Given the description of an element on the screen output the (x, y) to click on. 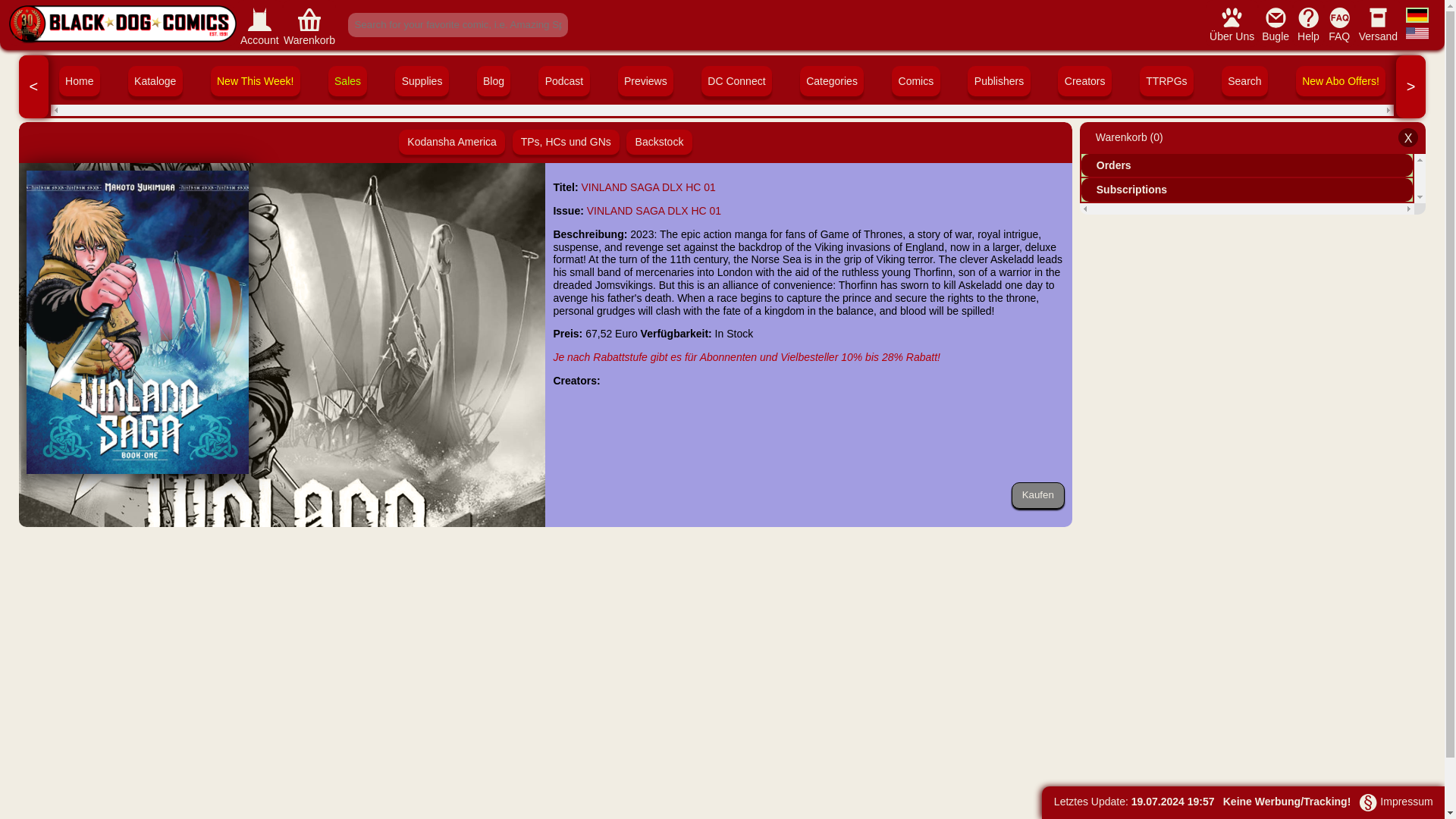
Account (258, 24)
Categories (831, 80)
Deutsch (1416, 16)
Search (1244, 80)
Impressum (1395, 801)
Versand (1377, 23)
Previews (644, 80)
FAQ (1339, 17)
Help (1308, 17)
English (1416, 34)
Blog (494, 80)
Kodansha America (451, 141)
DC Connect (736, 80)
Impressum (1367, 802)
Creators (1084, 80)
